Given the description of an element on the screen output the (x, y) to click on. 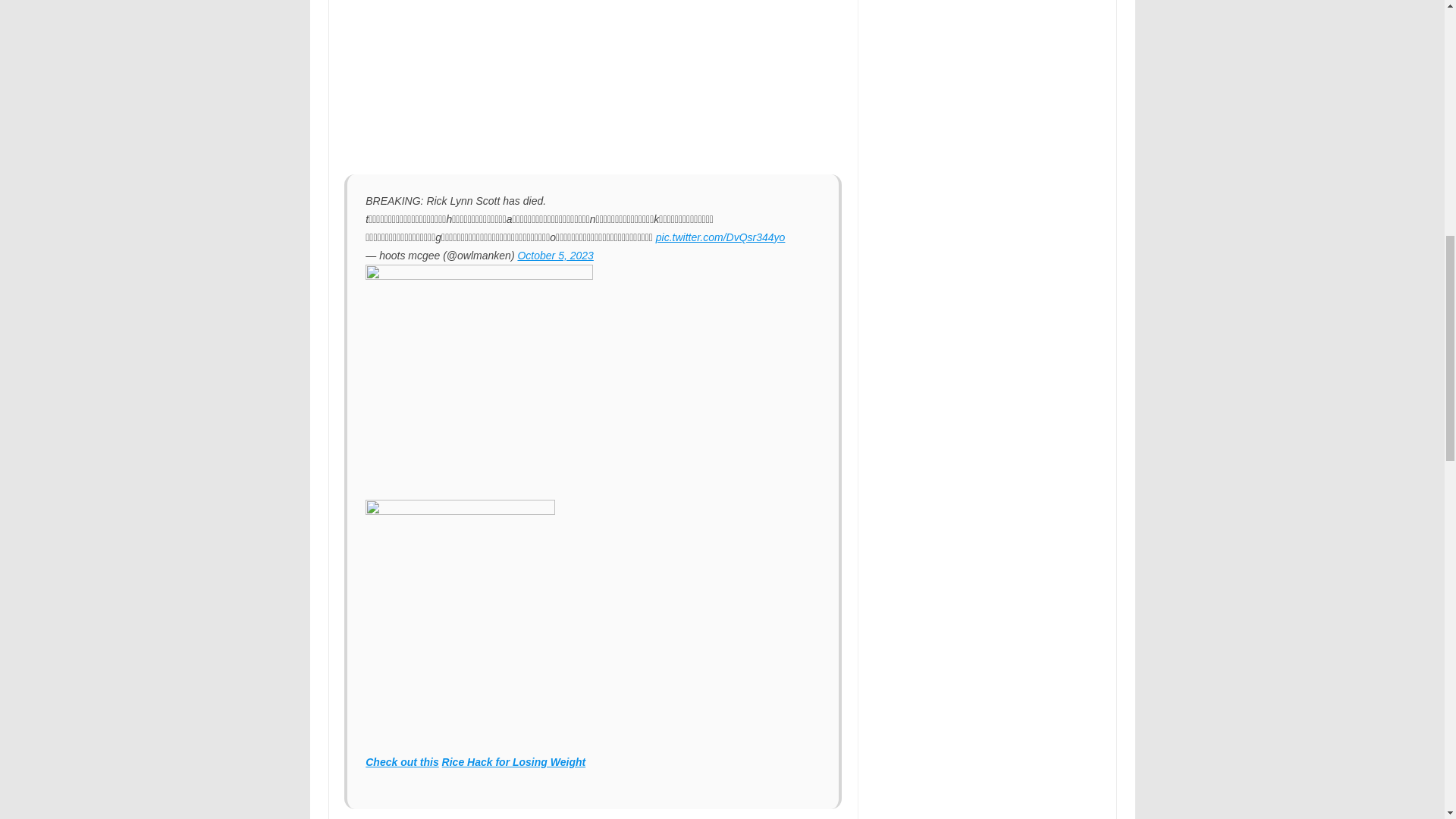
October 5, 2023 (554, 255)
Check ou (389, 761)
Rice Hack for Losing Weight (514, 761)
YouTube video player (555, 83)
t this (425, 761)
